Given the description of an element on the screen output the (x, y) to click on. 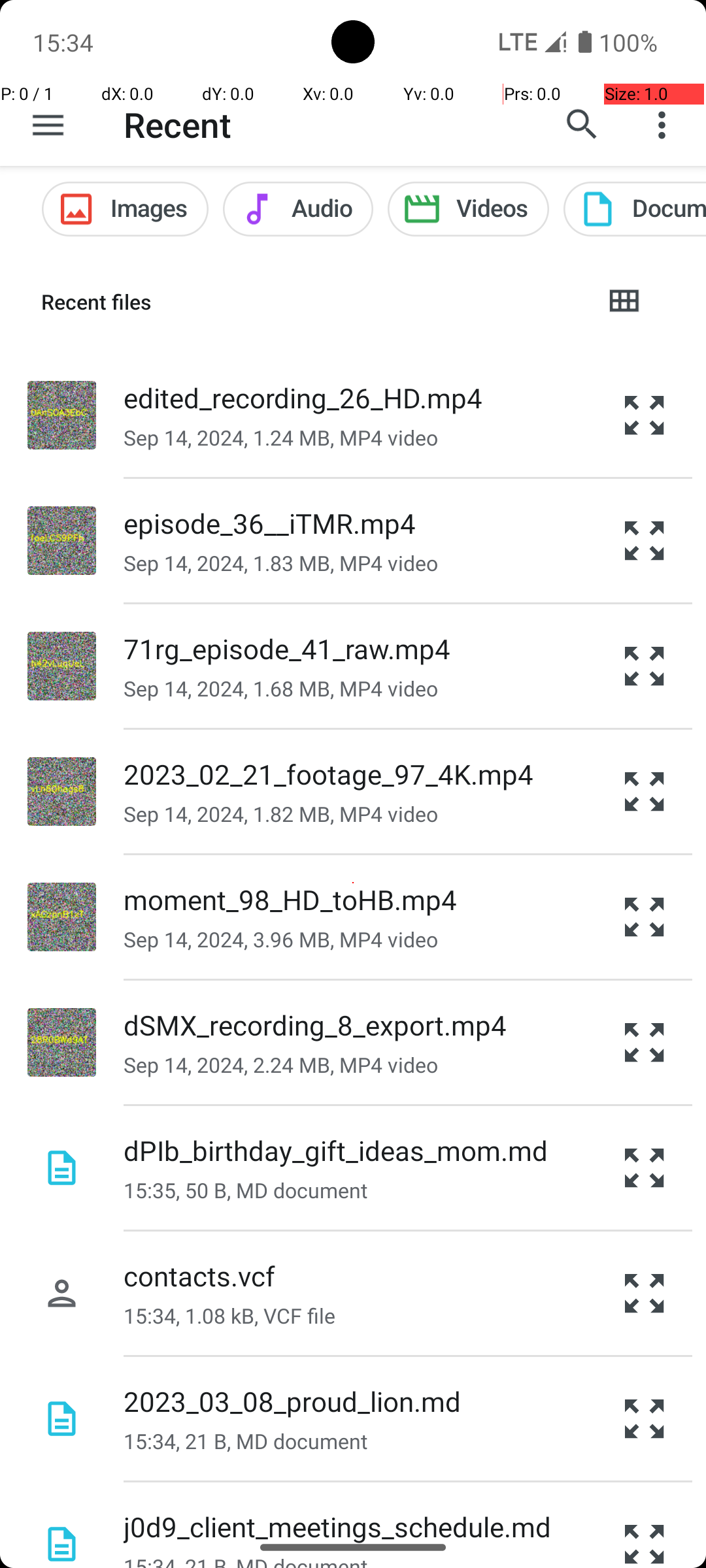
edited_recording_26_HD.mp4 Element type: android.widget.TextView (303, 397)
Sep 14, 2024, 1.24 MB, MP4 video Element type: android.widget.TextView (280, 437)
Preview the file edited_recording_26_HD.mp4 Element type: android.widget.FrameLayout (644, 414)
episode_36__iTMR.mp4 Element type: android.widget.TextView (269, 522)
Sep 14, 2024, 1.83 MB, MP4 video Element type: android.widget.TextView (280, 562)
Preview the file episode_36__iTMR.mp4 Element type: android.widget.FrameLayout (644, 540)
71rg_episode_41_raw.mp4 Element type: android.widget.TextView (287, 648)
Sep 14, 2024, 1.68 MB, MP4 video Element type: android.widget.TextView (280, 688)
Preview the file 71rg_episode_41_raw.mp4 Element type: android.widget.FrameLayout (644, 665)
2023_02_21_footage_97_4K.mp4 Element type: android.widget.TextView (328, 773)
Sep 14, 2024, 1.82 MB, MP4 video Element type: android.widget.TextView (280, 813)
Preview the file 2023_02_21_footage_97_4K.mp4 Element type: android.widget.FrameLayout (644, 791)
moment_98_HD_toHB.mp4 Element type: android.widget.TextView (289, 898)
Sep 14, 2024, 3.96 MB, MP4 video Element type: android.widget.TextView (280, 939)
Preview the file moment_98_HD_toHB.mp4 Element type: android.widget.FrameLayout (644, 916)
dSMX_recording_8_export.mp4 Element type: android.widget.TextView (314, 1024)
Sep 14, 2024, 2.24 MB, MP4 video Element type: android.widget.TextView (280, 1064)
Preview the file dSMX_recording_8_export.mp4 Element type: android.widget.FrameLayout (644, 1042)
dPIb_birthday_gift_ideas_mom.md Element type: android.widget.TextView (335, 1149)
15:35, 50 B, MD document Element type: android.widget.TextView (245, 1190)
Preview the file dPIb_birthday_gift_ideas_mom.md Element type: android.widget.FrameLayout (644, 1167)
contacts.vcf Element type: android.widget.TextView (199, 1275)
15:34, 1.08 kB, VCF file Element type: android.widget.TextView (229, 1315)
Preview the file contacts.vcf Element type: android.widget.FrameLayout (644, 1293)
2023_03_08_proud_lion.md Element type: android.widget.TextView (291, 1400)
15:34, 21 B, MD document Element type: android.widget.TextView (245, 1440)
Preview the file 2023_03_08_proud_lion.md Element type: android.widget.FrameLayout (644, 1418)
j0d9_client_meetings_schedule.md Element type: android.widget.TextView (337, 1526)
Preview the file j0d9_client_meetings_schedule.md Element type: android.widget.FrameLayout (644, 1525)
